Given the description of an element on the screen output the (x, y) to click on. 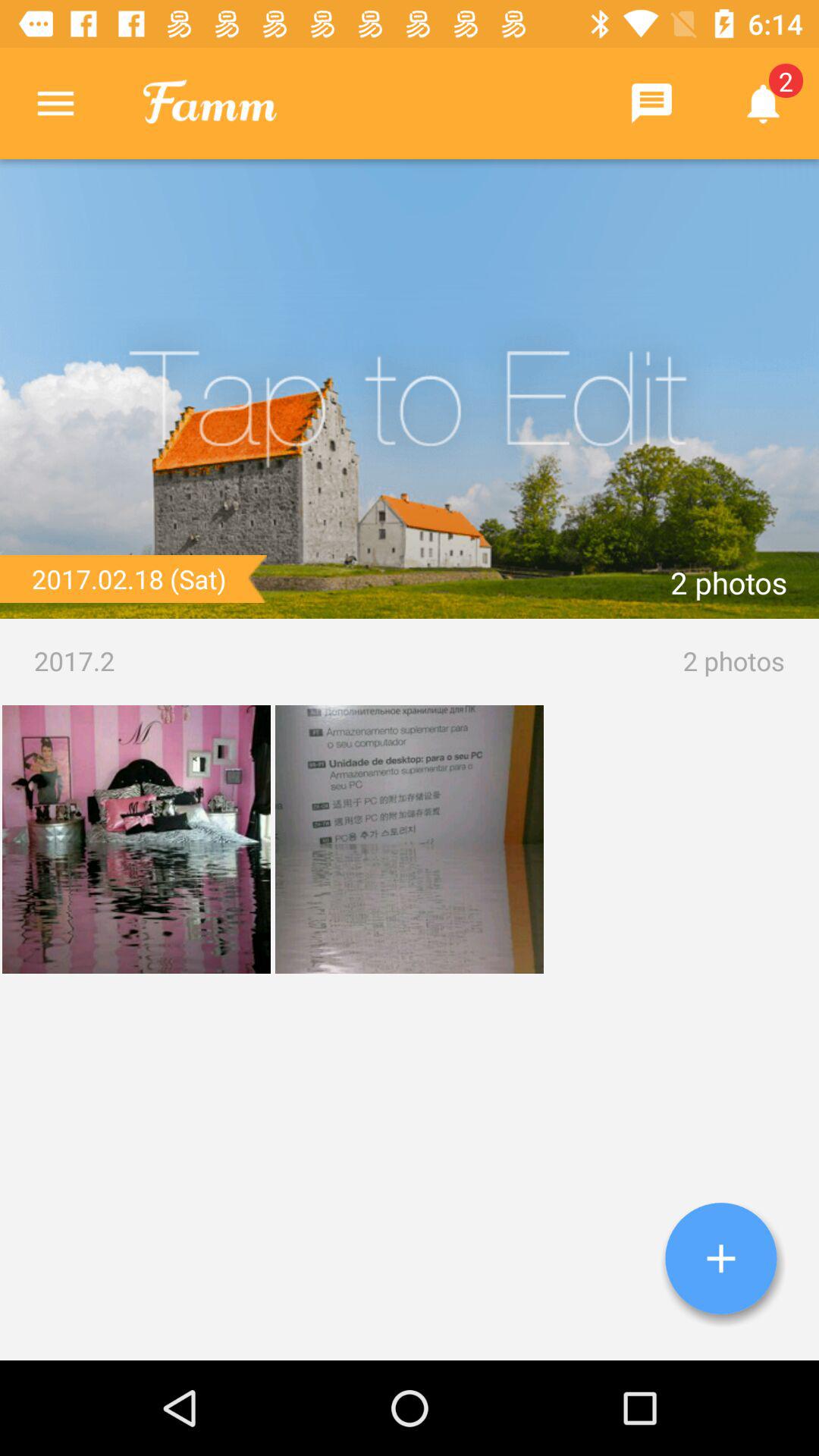
profile photo (409, 388)
